Given the description of an element on the screen output the (x, y) to click on. 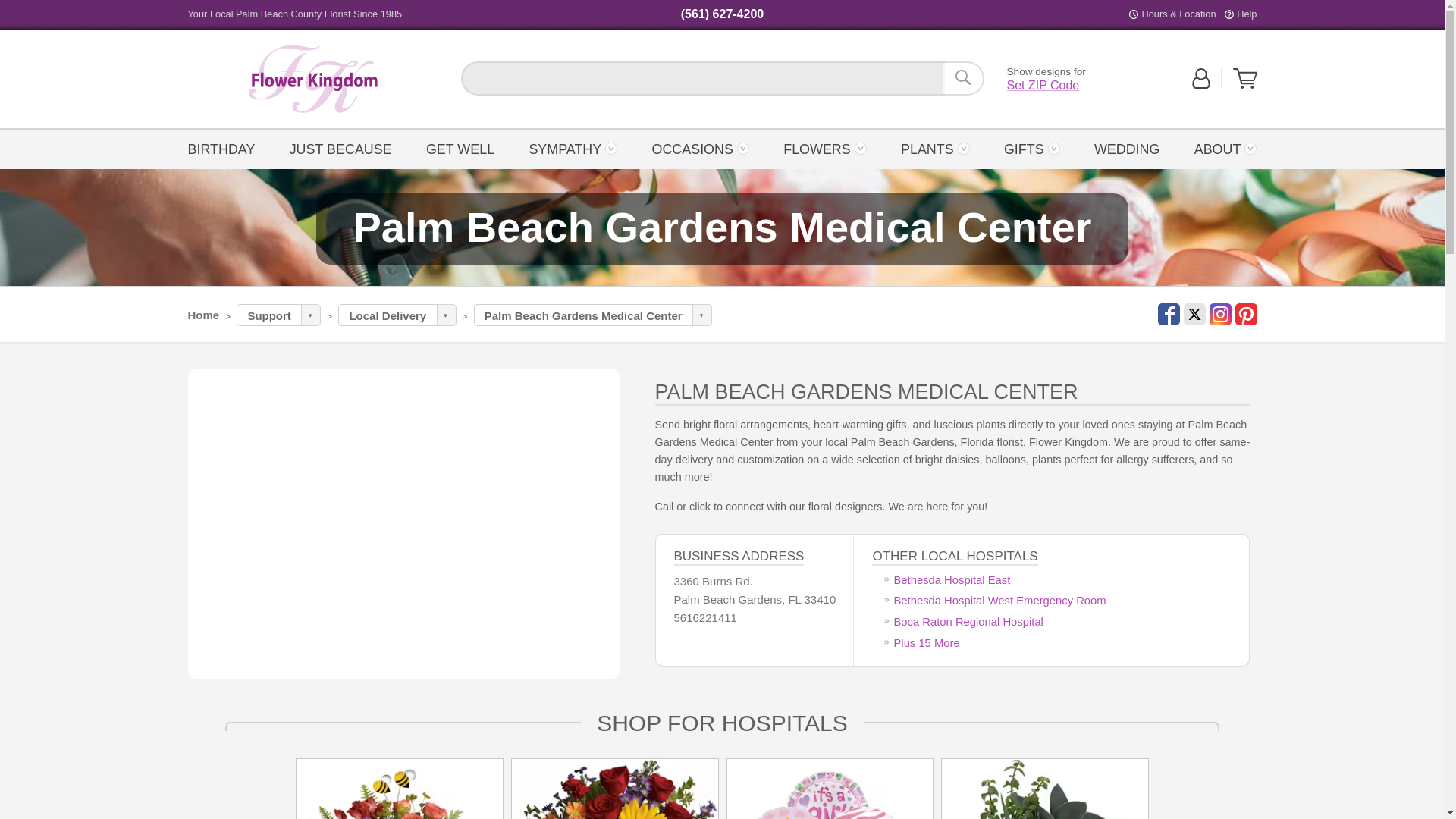
Set ZIP Code (1043, 85)
SYMPATHY (572, 147)
Shopping Cart (1245, 78)
GET WELL (460, 147)
Help (1246, 13)
OCCASIONS (700, 147)
JUST BECAUSE (339, 147)
User Account (1200, 85)
Flower Kingdom Logo (312, 79)
Shopping Cart (1245, 85)
